Given the description of an element on the screen output the (x, y) to click on. 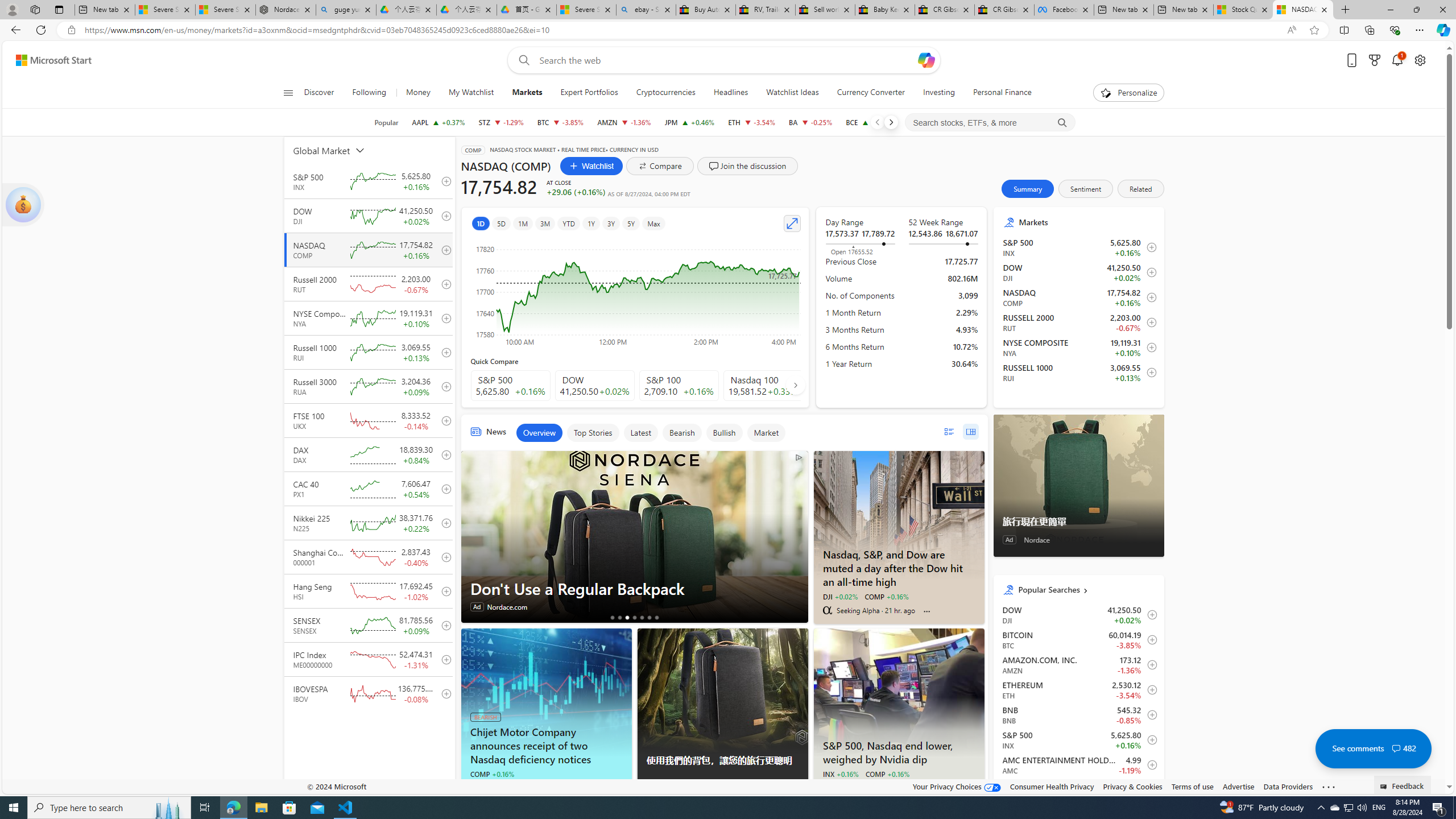
ADA Cardano decrease 0.36 -0.00 -1.26% itemundefined (1078, 789)
AdChoices (798, 789)
AutomationID: finance_carousel_navi_arrow (795, 385)
Related (1140, 188)
Previous (876, 122)
guge yunpan - Search (346, 9)
Expert Portfolios (589, 92)
Watchlist Ideas (792, 92)
STZ CONSTELLATION BRANDS, INC. decrease 239.98 -3.13 -1.29% (500, 122)
Currency Converter (870, 92)
